Given the description of an element on the screen output the (x, y) to click on. 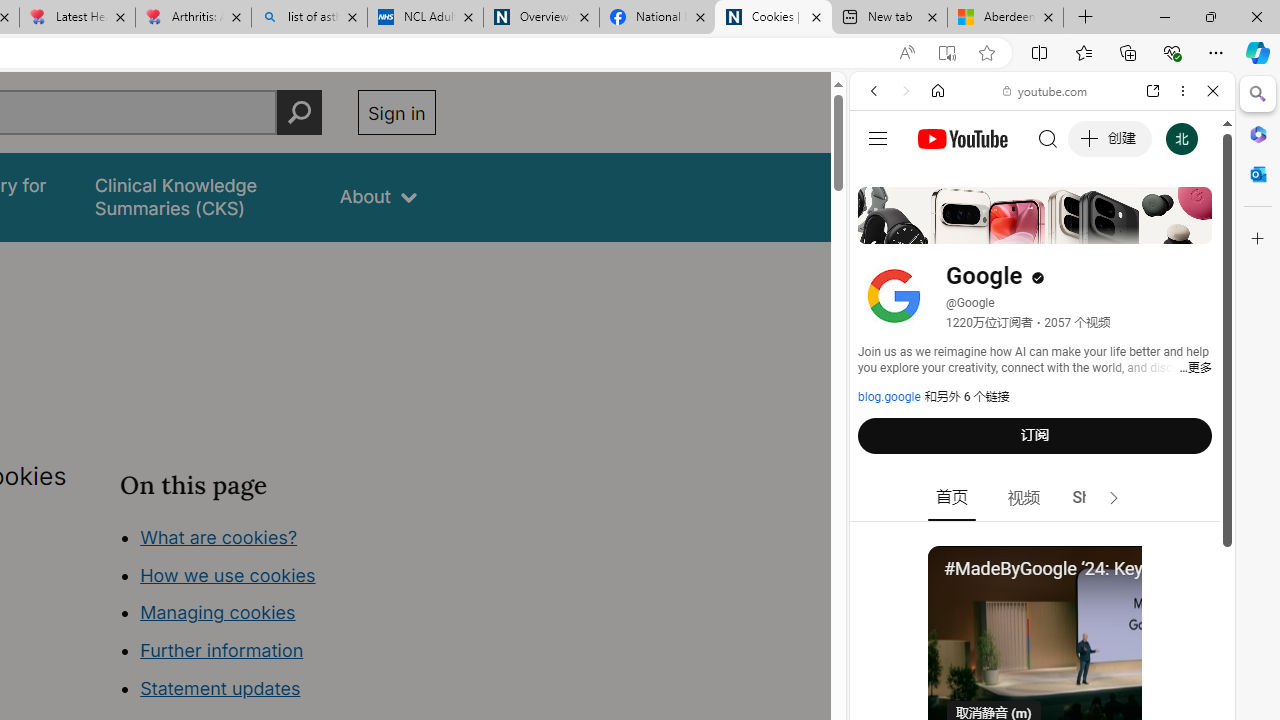
Perform search (299, 112)
Search Filter, WEB (882, 228)
About (378, 196)
Class: style-scope tp-yt-iron-icon (1114, 498)
#you (1042, 445)
YouTube (1034, 296)
SEARCH TOOLS (1093, 228)
NCL Adult Asthma Inhaler Choice Guideline (424, 17)
